Given the description of an element on the screen output the (x, y) to click on. 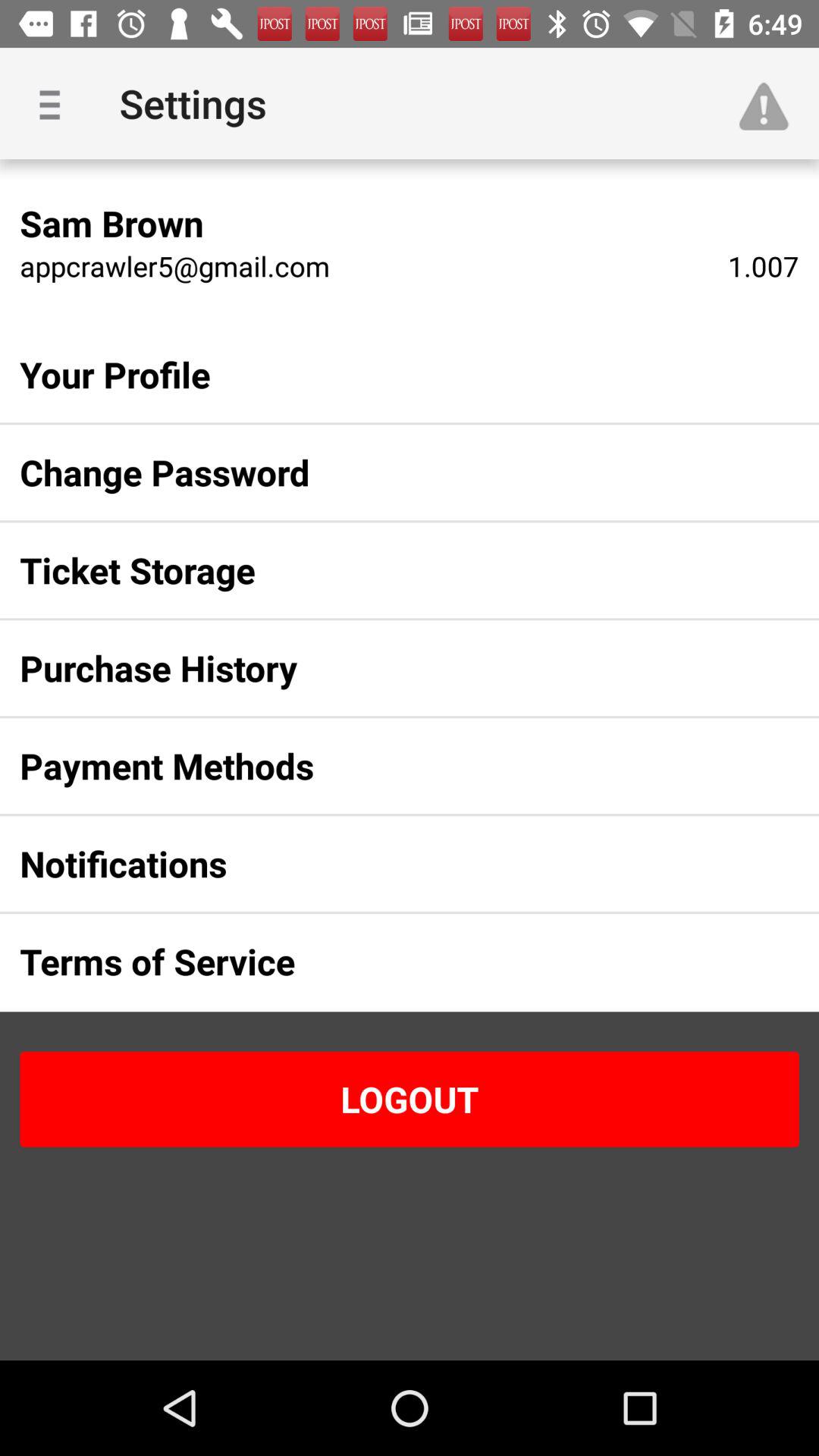
swipe to the logout (409, 1099)
